Given the description of an element on the screen output the (x, y) to click on. 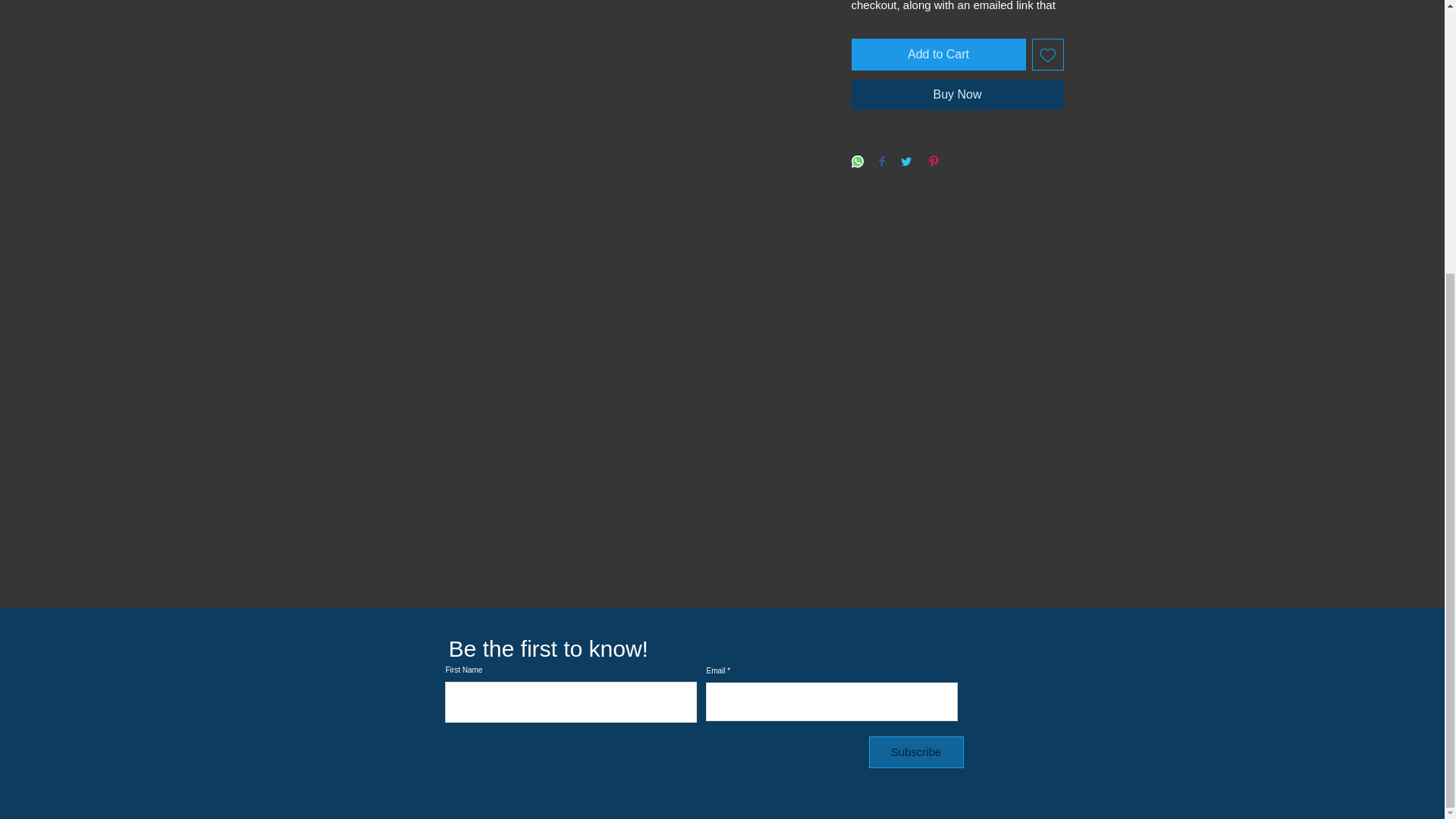
Subscribe (916, 752)
Facebook Like (1027, 654)
Twitter Tweet (1023, 631)
Add to Cart (937, 54)
Buy Now (956, 94)
